Given the description of an element on the screen output the (x, y) to click on. 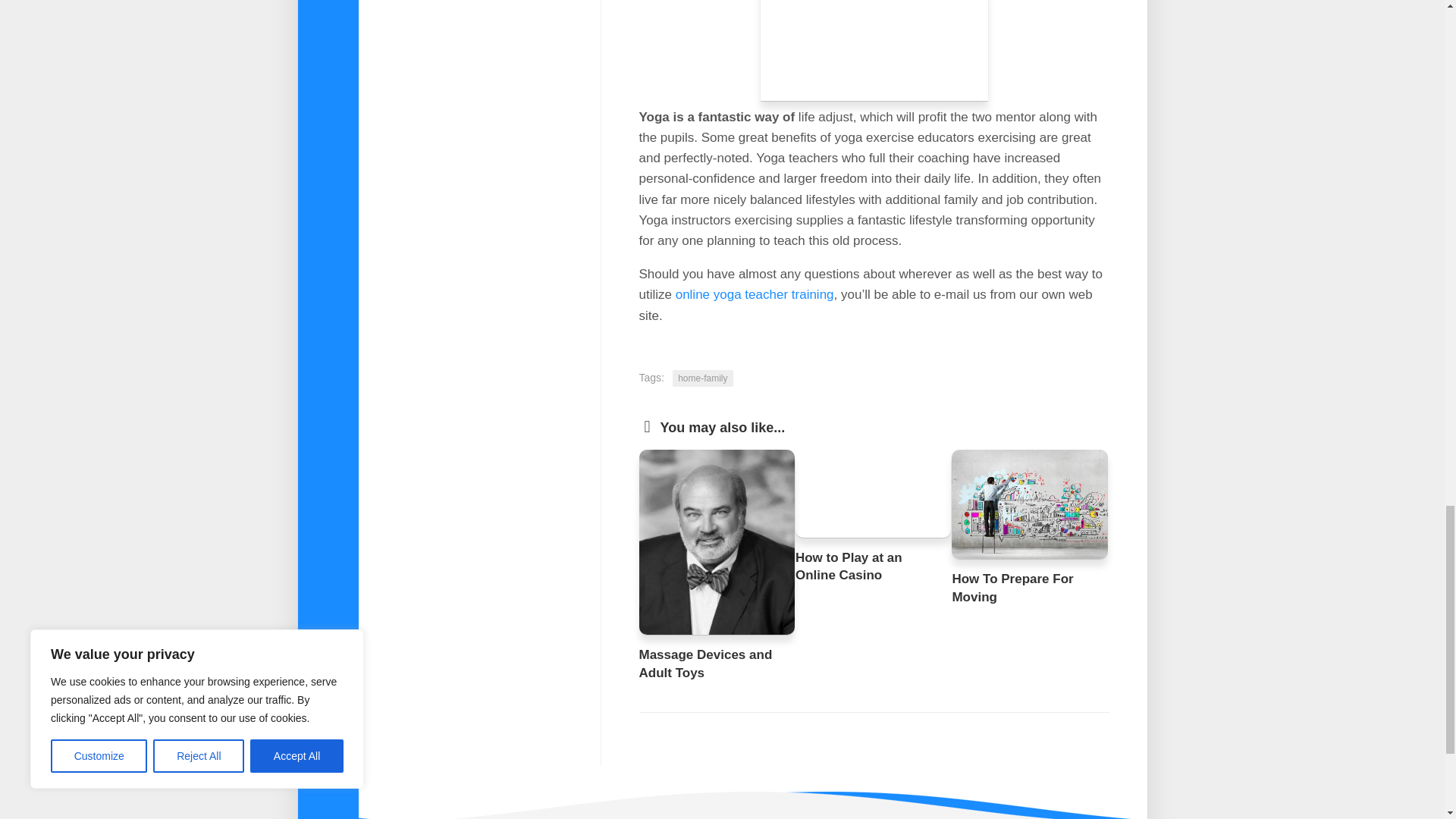
online yoga teacher training (754, 294)
Massage Devices and Adult Toys (705, 663)
How to Play at an Online Casino (848, 566)
home-family (702, 378)
How To Prepare For Moving (1012, 587)
